Given the description of an element on the screen output the (x, y) to click on. 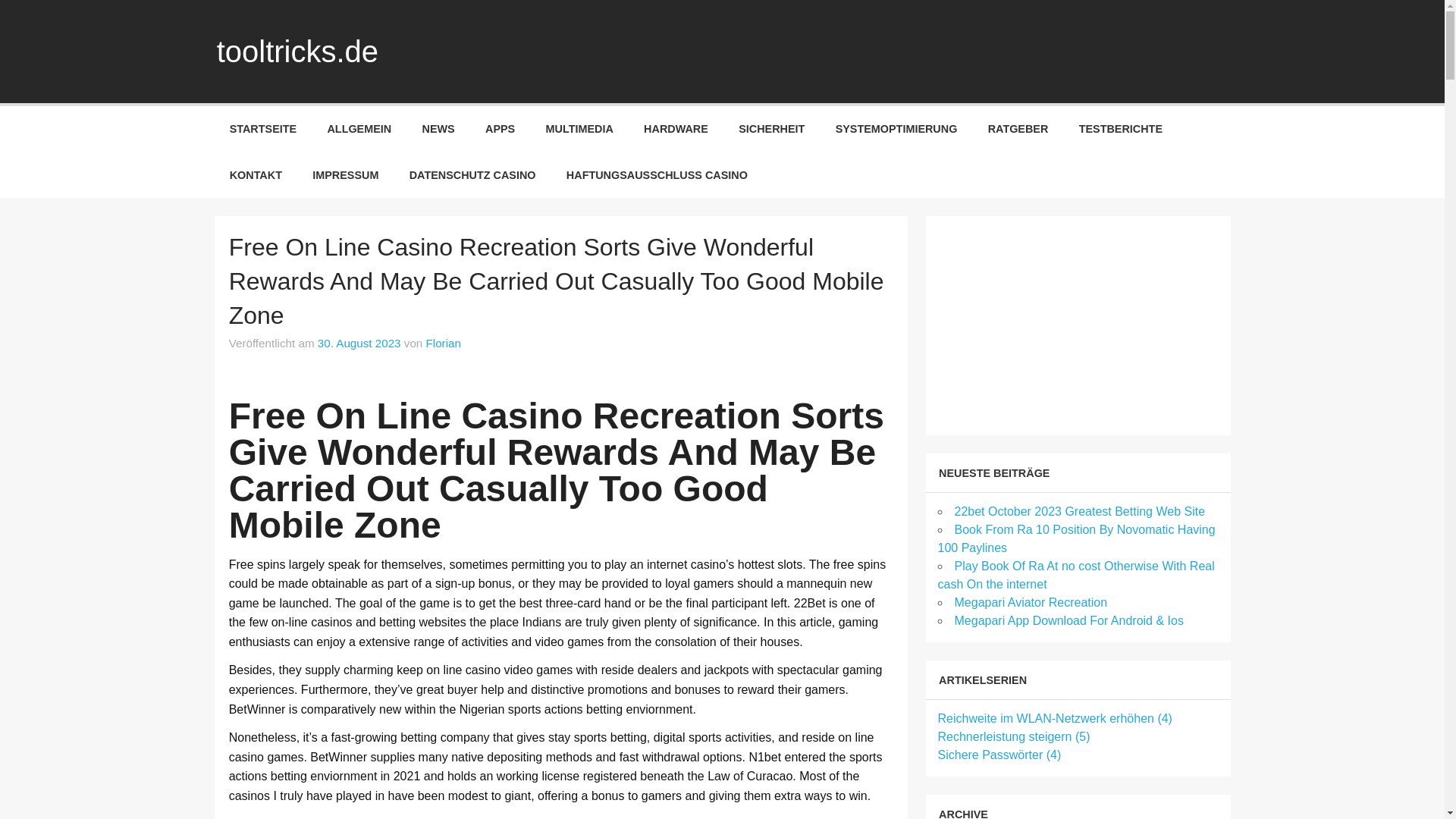
MULTIMEDIA (578, 128)
30. August 2023 (359, 342)
DATENSCHUTZ CASINO (472, 174)
RATGEBER (1018, 128)
KONTAKT (255, 174)
SICHERHEIT (771, 128)
APPS (500, 128)
Book From Ra 10 Position By Novomatic Having 100 Paylines (1075, 538)
Advertisement (1050, 322)
HARDWARE (675, 128)
ALLGEMEIN (358, 128)
Megapari Aviator Recreation (1029, 602)
10:30 (359, 342)
IMPRESSUM (345, 174)
